Given the description of an element on the screen output the (x, y) to click on. 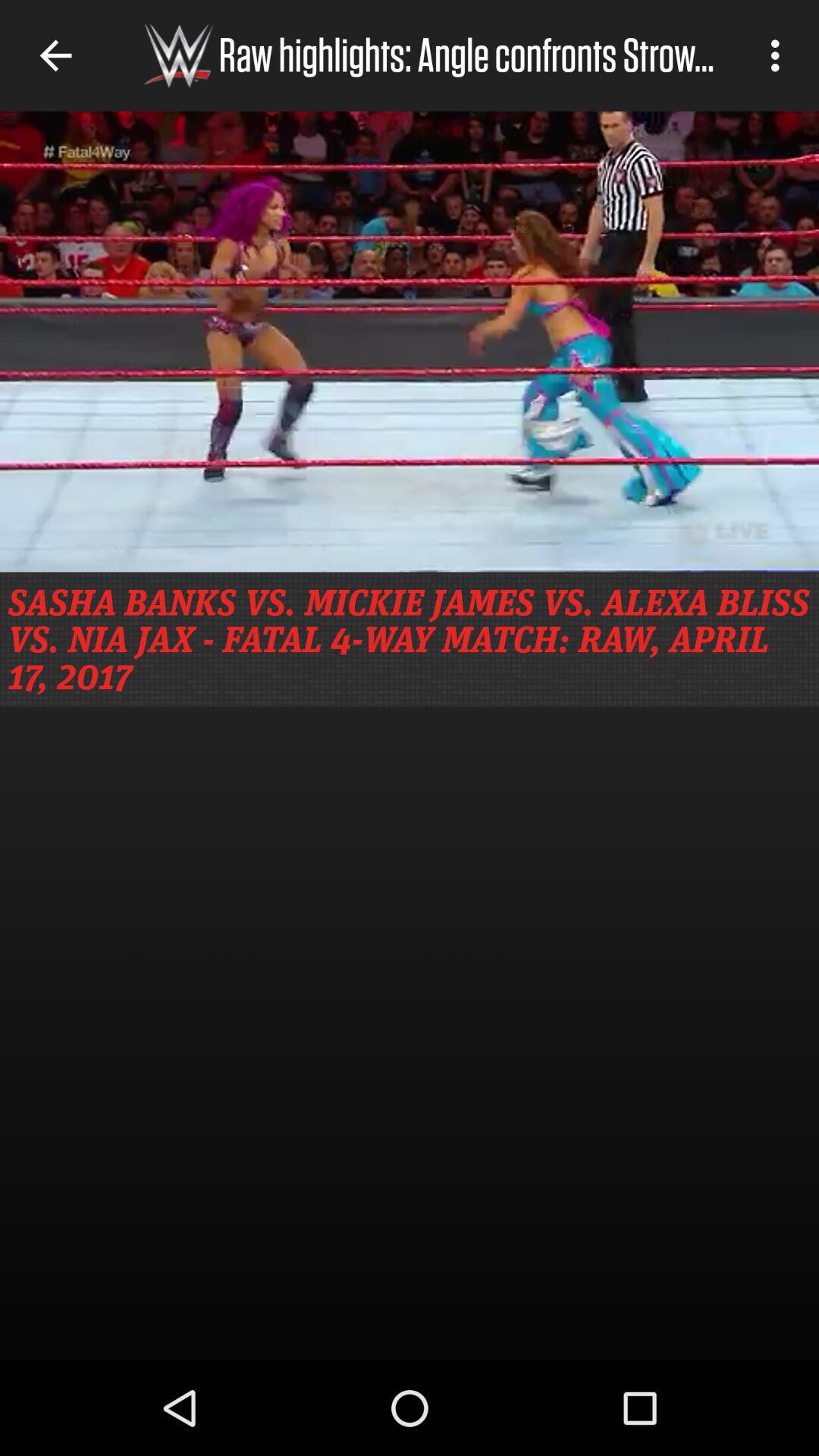
angle confronts strow (409, 341)
